Given the description of an element on the screen output the (x, y) to click on. 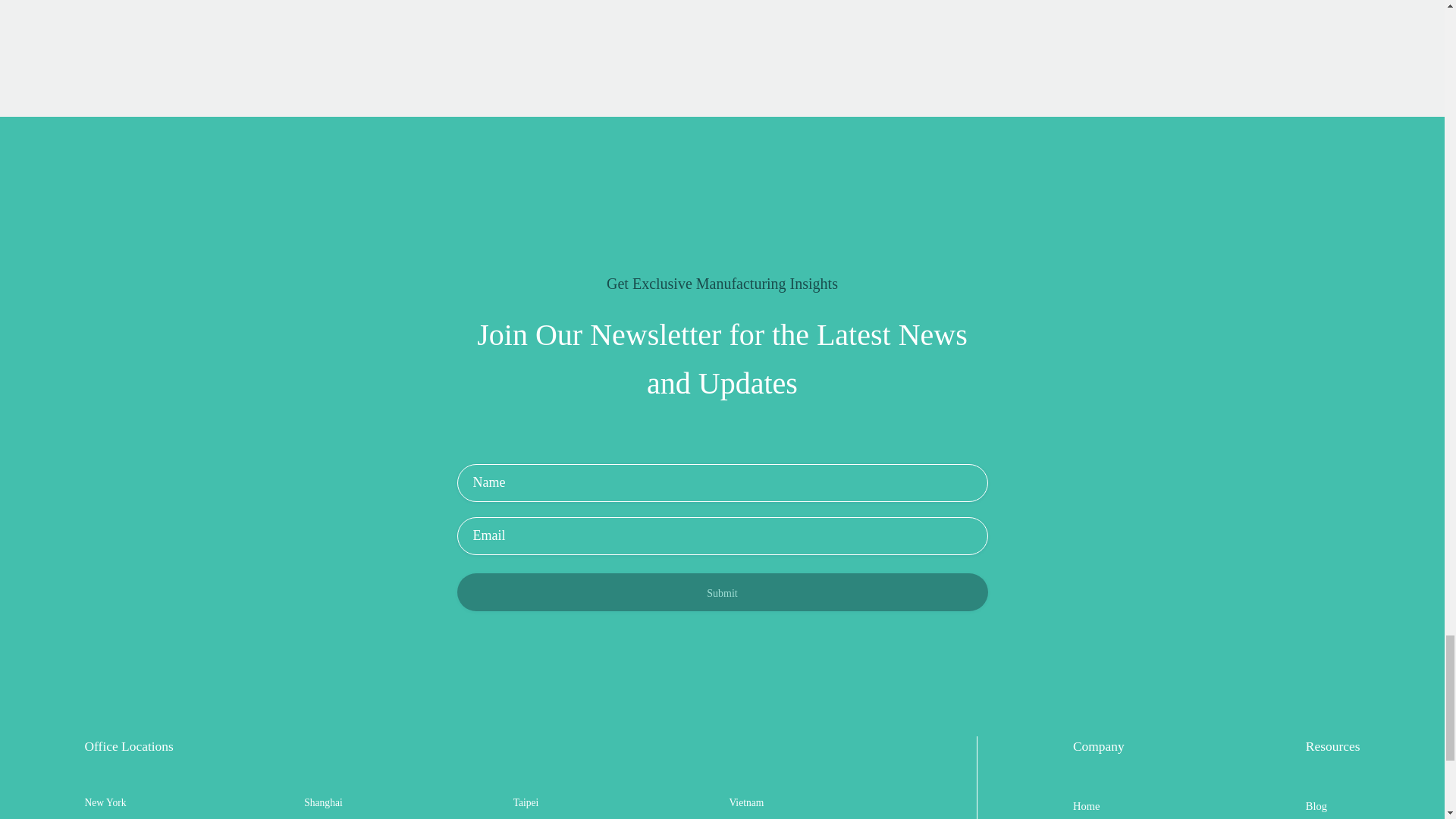
Submit (722, 591)
Submit (722, 591)
Company (1098, 745)
Home (1086, 805)
